Given the description of an element on the screen output the (x, y) to click on. 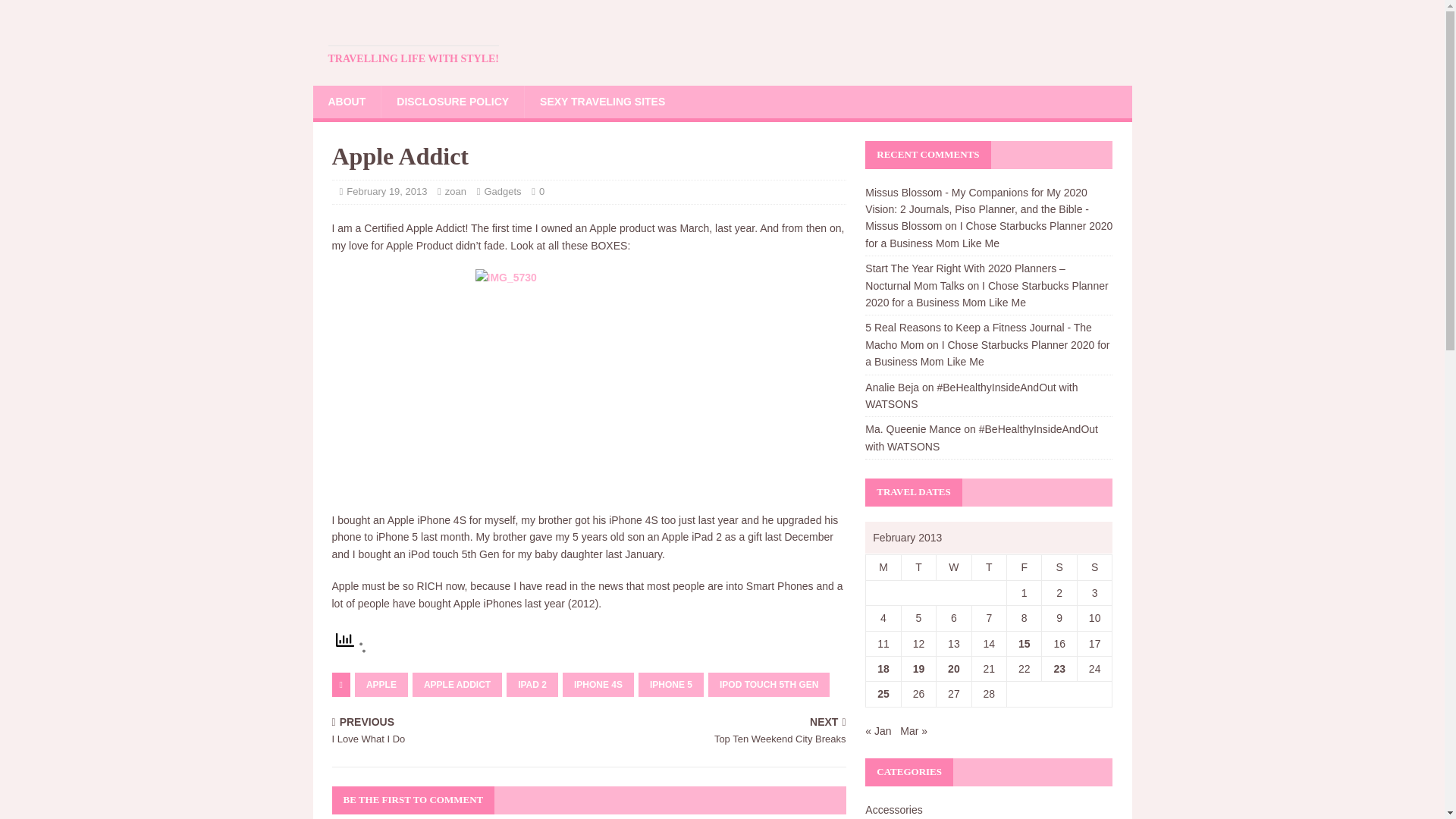
18 (883, 668)
February 19, 2013 (386, 191)
IPHONE 4S (597, 684)
19 (918, 668)
0 (541, 191)
APPLE (381, 684)
5 Real Reasons to Keep a Fitness Journal - The Macho Mom (978, 335)
IPAD 2 (531, 684)
23 (1058, 668)
zoan (455, 191)
Gadgets (502, 191)
15 (1023, 644)
Thursday (988, 567)
25 (883, 693)
